Given the description of an element on the screen output the (x, y) to click on. 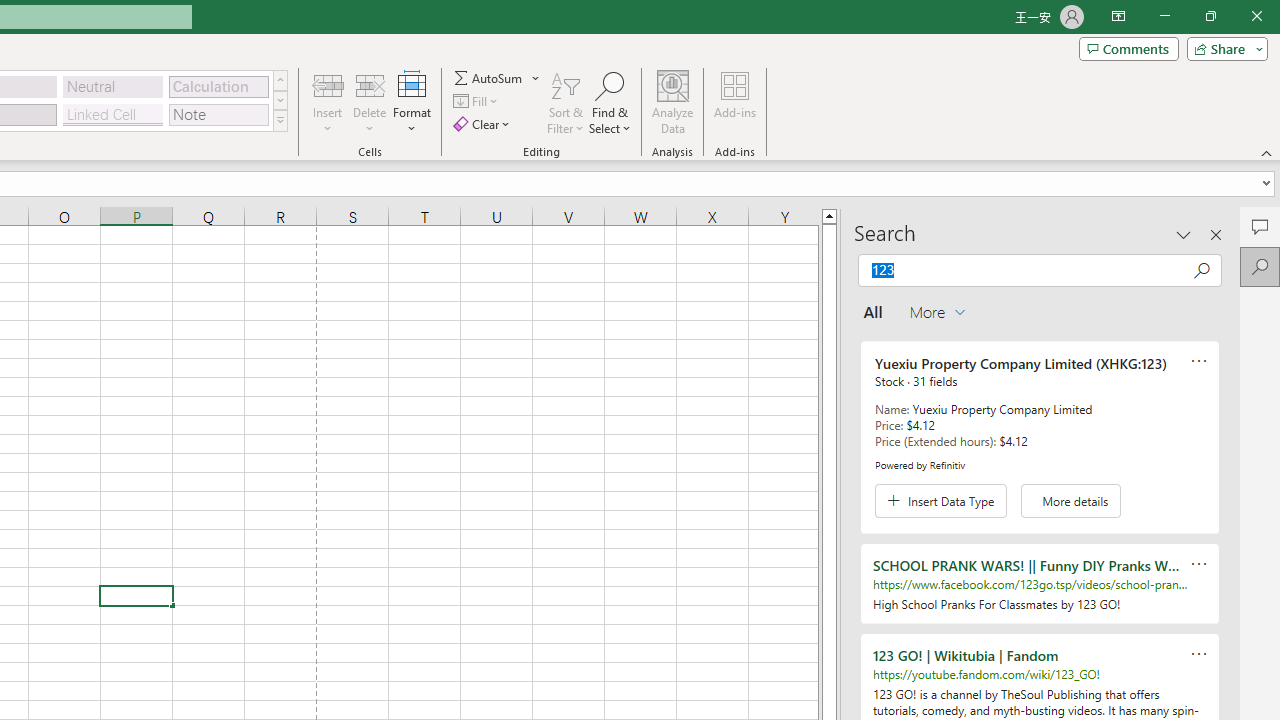
Cell Styles (280, 120)
Note (218, 114)
Search (1260, 266)
Class: NetUIImage (280, 120)
Fill (477, 101)
